Given the description of an element on the screen output the (x, y) to click on. 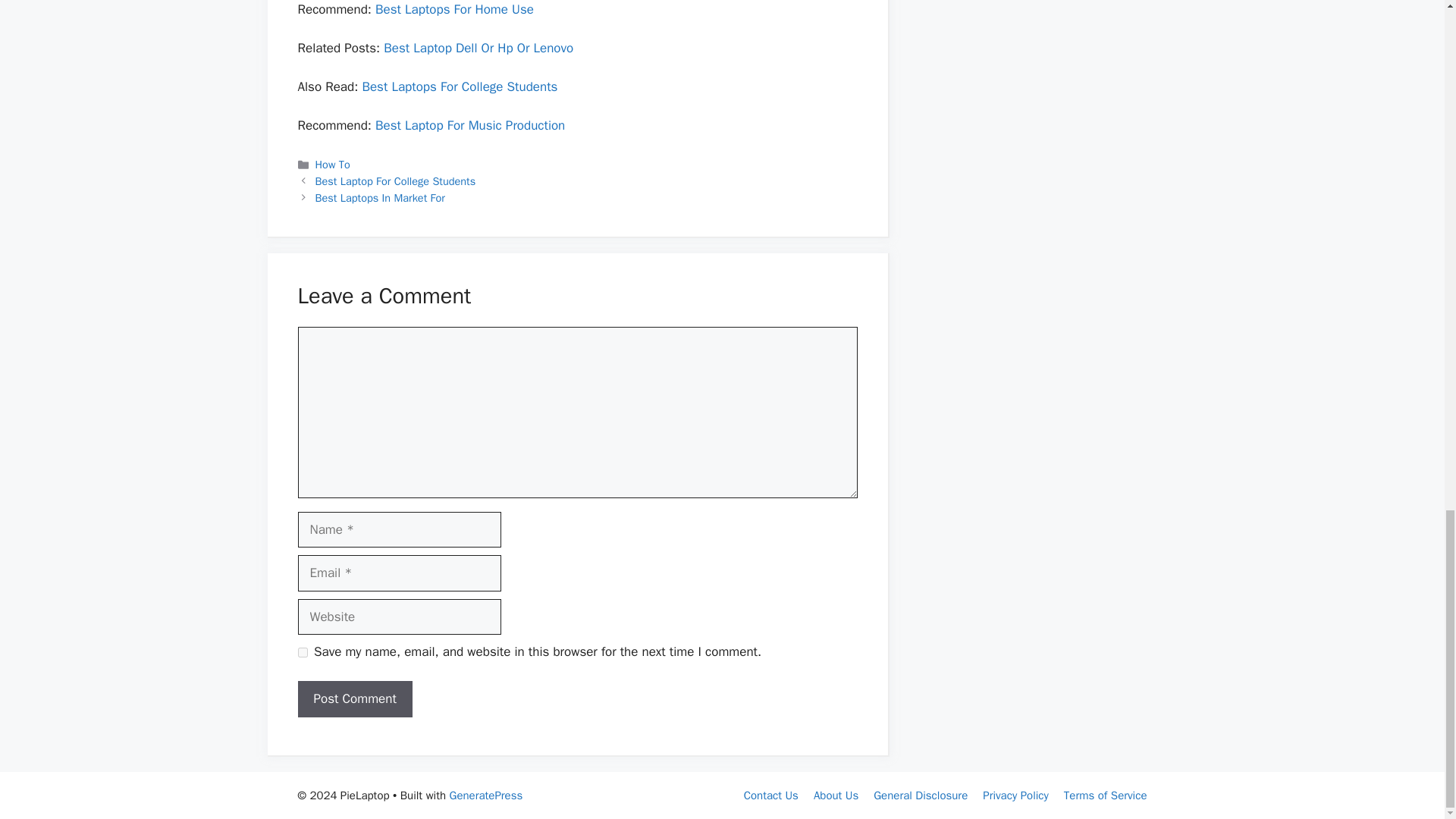
Post Comment (354, 698)
Best Laptops For Home Use (454, 9)
Best Laptop For Music Production (469, 125)
Best Laptops For College Students (459, 86)
Best Laptops In Market For (380, 197)
How To (332, 164)
yes (302, 652)
Best Laptop Dell Or Hp Or Lenovo (478, 48)
Post Comment (354, 698)
Best Laptop For College Students (395, 181)
